Given the description of an element on the screen output the (x, y) to click on. 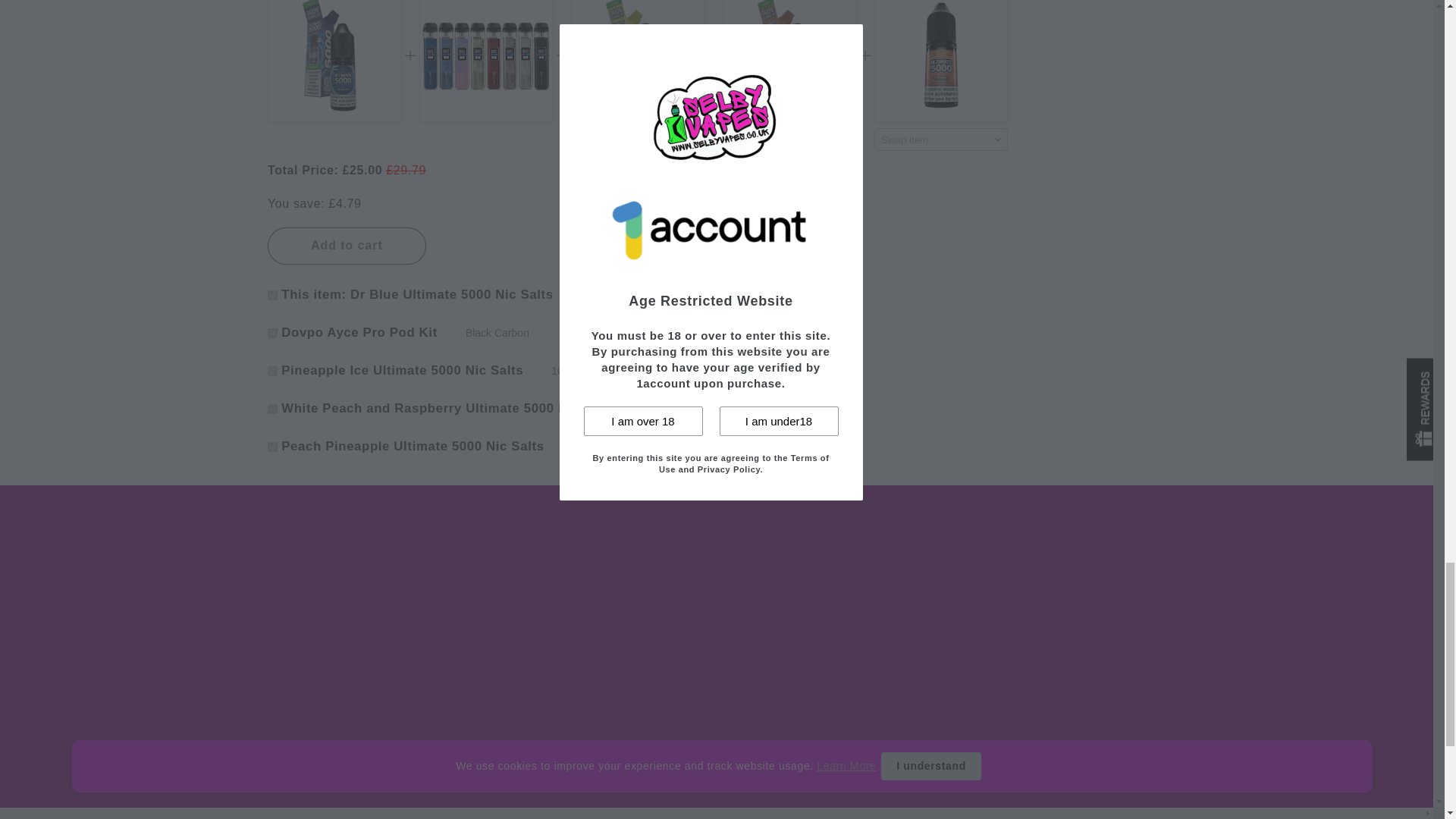
Dr Blue Ultimate 5000 Nic Salts (333, 61)
